Given the description of an element on the screen output the (x, y) to click on. 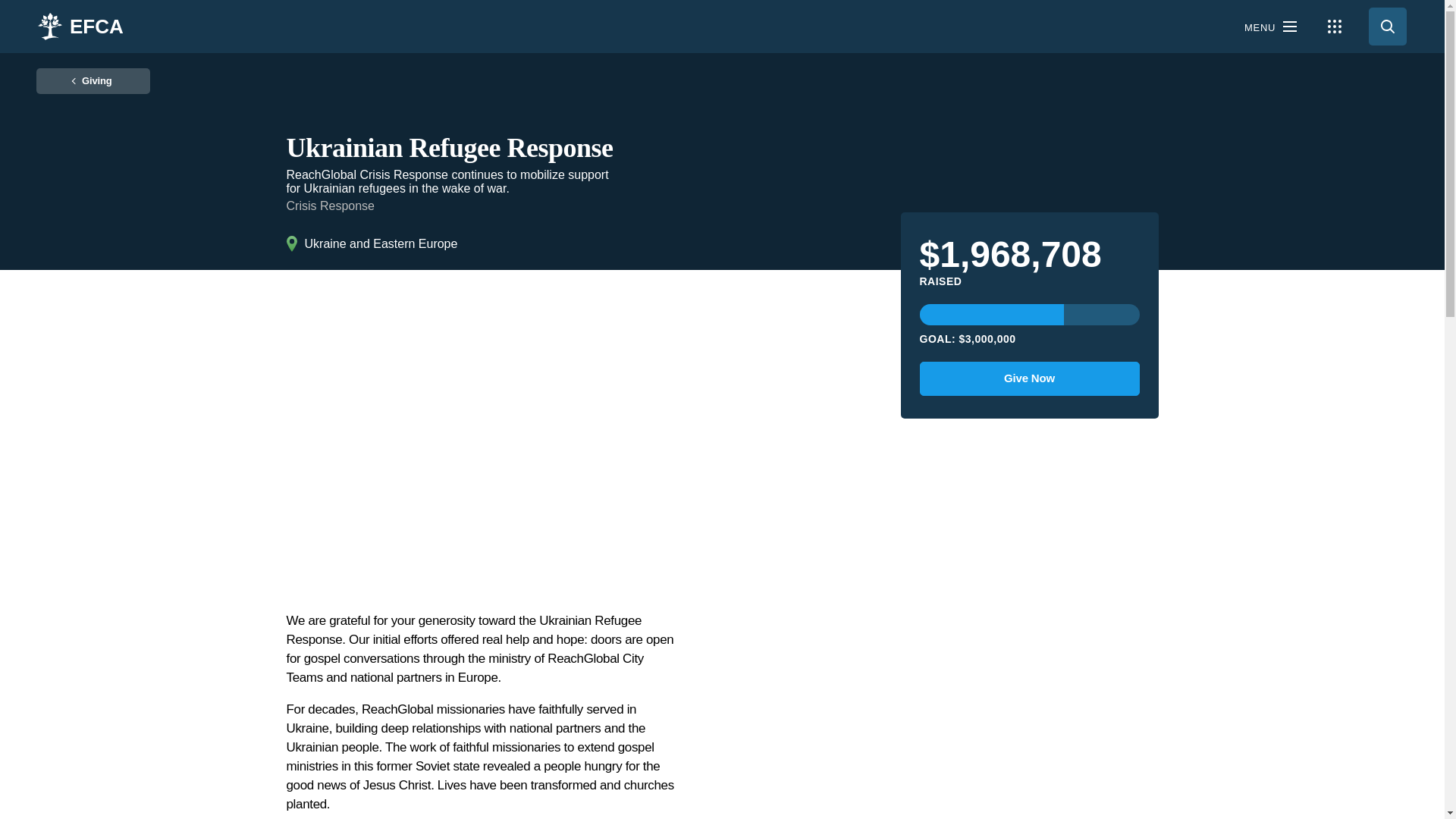
Skip to content (15, 7)
Search (1387, 26)
MENU (1270, 26)
EFCA (79, 26)
More (1335, 26)
Evangelical Free Church of America (96, 26)
